Given the description of an element on the screen output the (x, y) to click on. 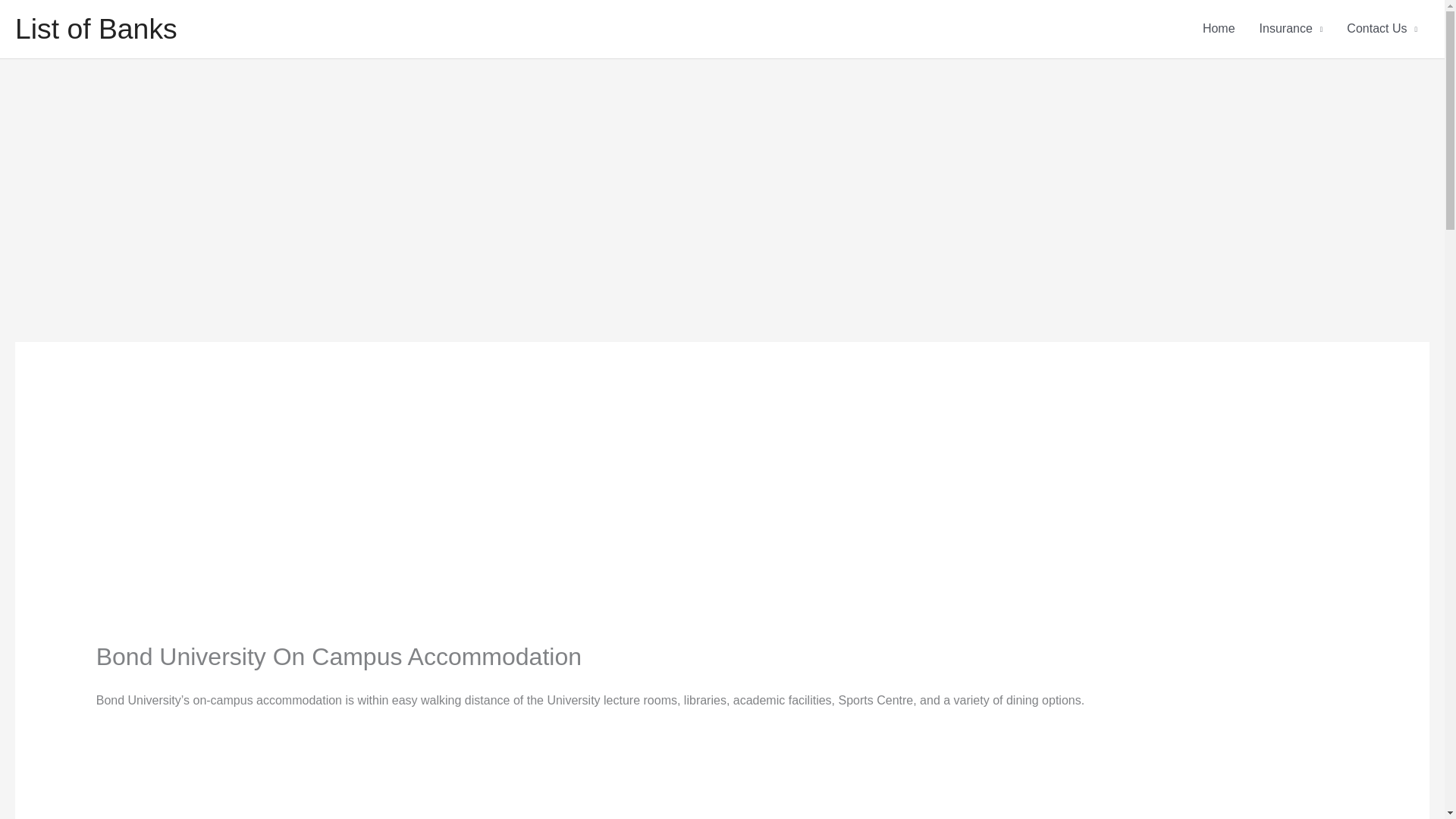
Contact Us (1382, 28)
Home (1219, 28)
Insurance (1291, 28)
Advertisement (338, 513)
List of Banks (95, 29)
Advertisement (721, 786)
